Given the description of an element on the screen output the (x, y) to click on. 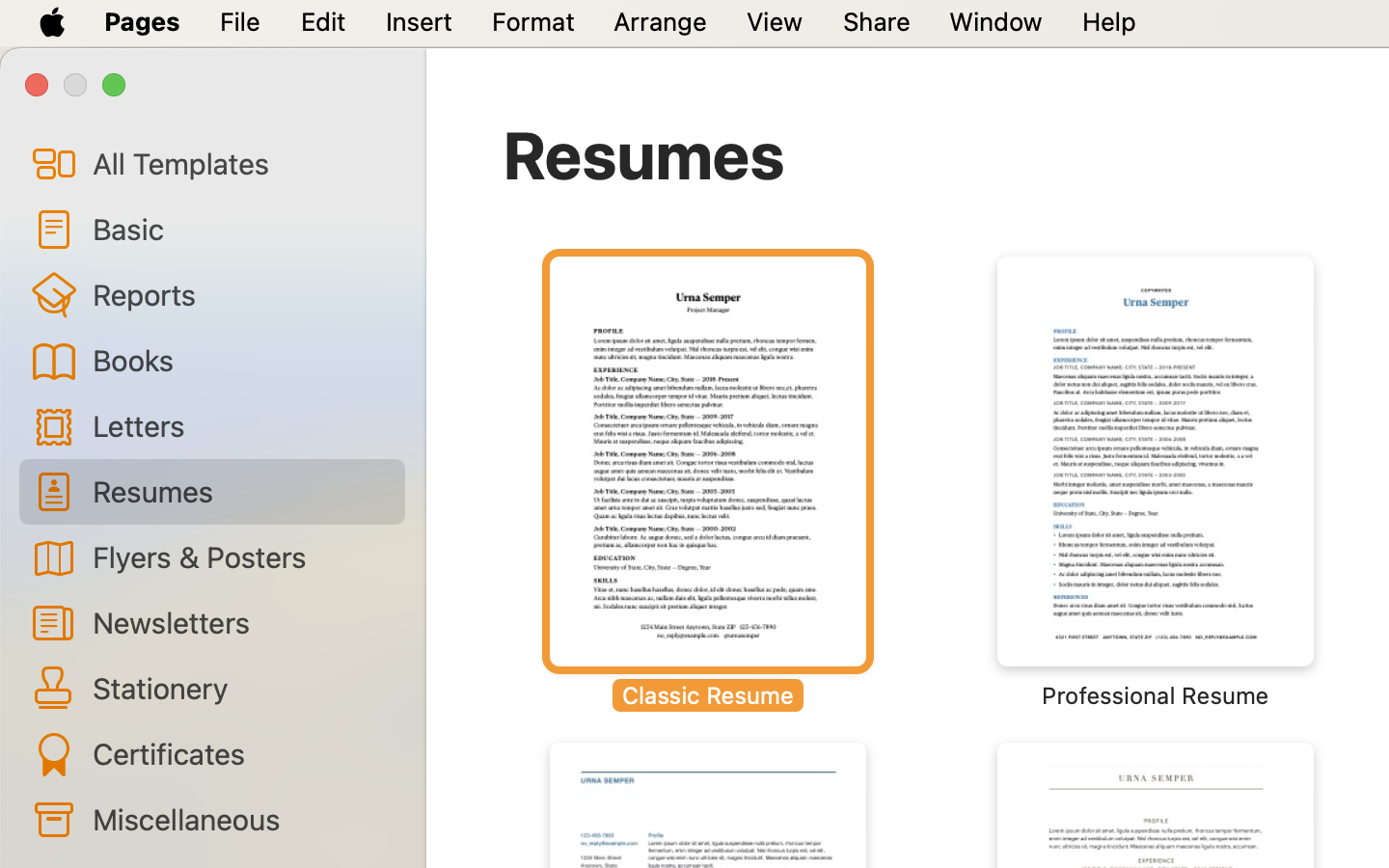
Reports Element type: AXStaticText (240, 293)
Basic Element type: AXStaticText (240, 228)
‎⁨Professional Resume⁩ Element type: AXButton (1155, 483)
Miscellaneous Element type: AXStaticText (240, 818)
All Templates Element type: AXStaticText (240, 162)
